Given the description of an element on the screen output the (x, y) to click on. 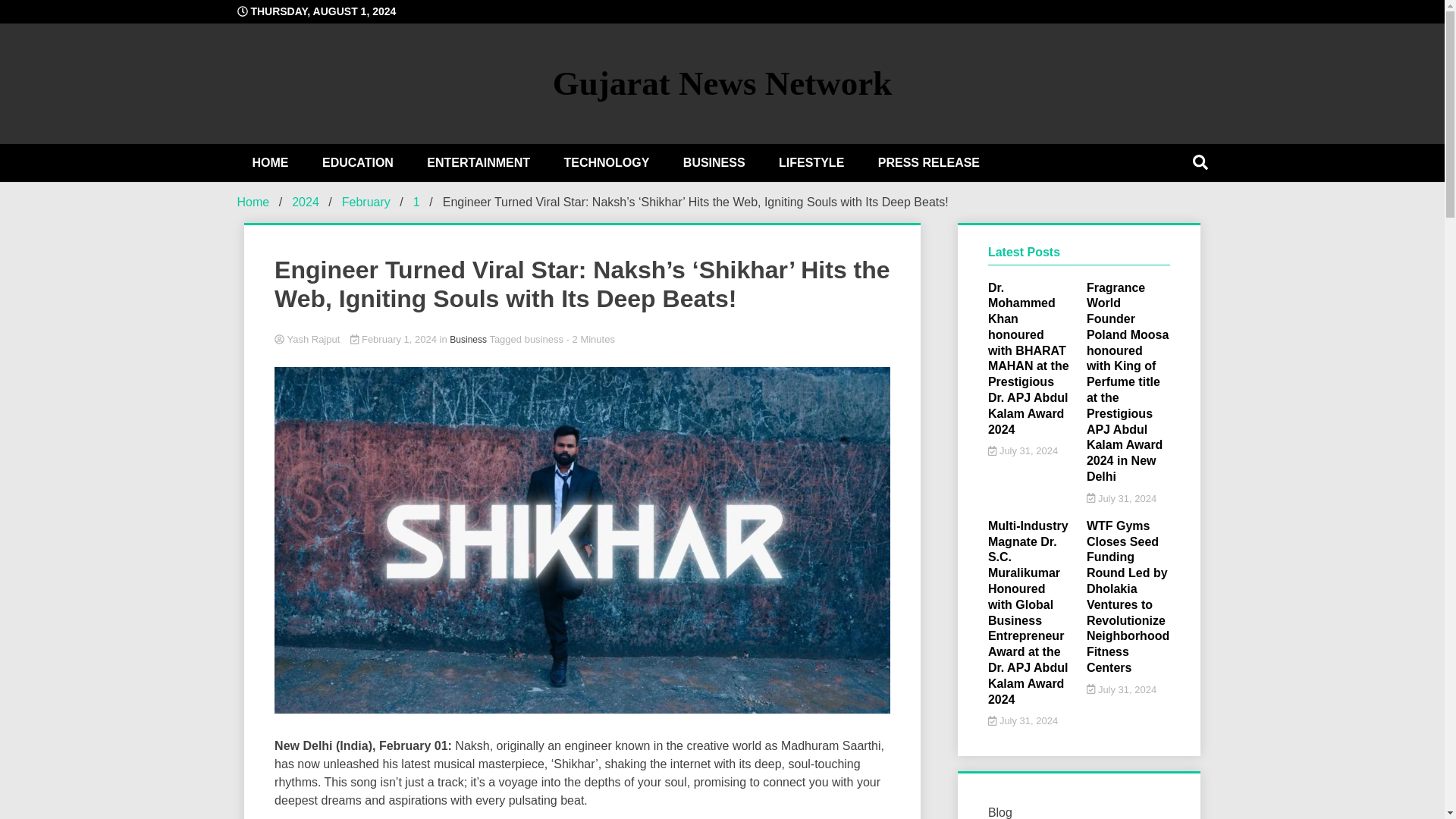
Business (467, 339)
PRESS RELEASE (928, 162)
business (543, 338)
2024 (305, 201)
BUSINESS (714, 162)
HOME (268, 162)
Yash Rajput (582, 339)
February 1, 2024 (394, 338)
July 31, 2024 (1023, 450)
ENTERTAINMENT (478, 162)
Home (252, 201)
Estimated Reading Time of Article (590, 338)
EDUCATION (358, 162)
Gujarat News Network (722, 83)
LIFESTYLE (810, 162)
